Given the description of an element on the screen output the (x, y) to click on. 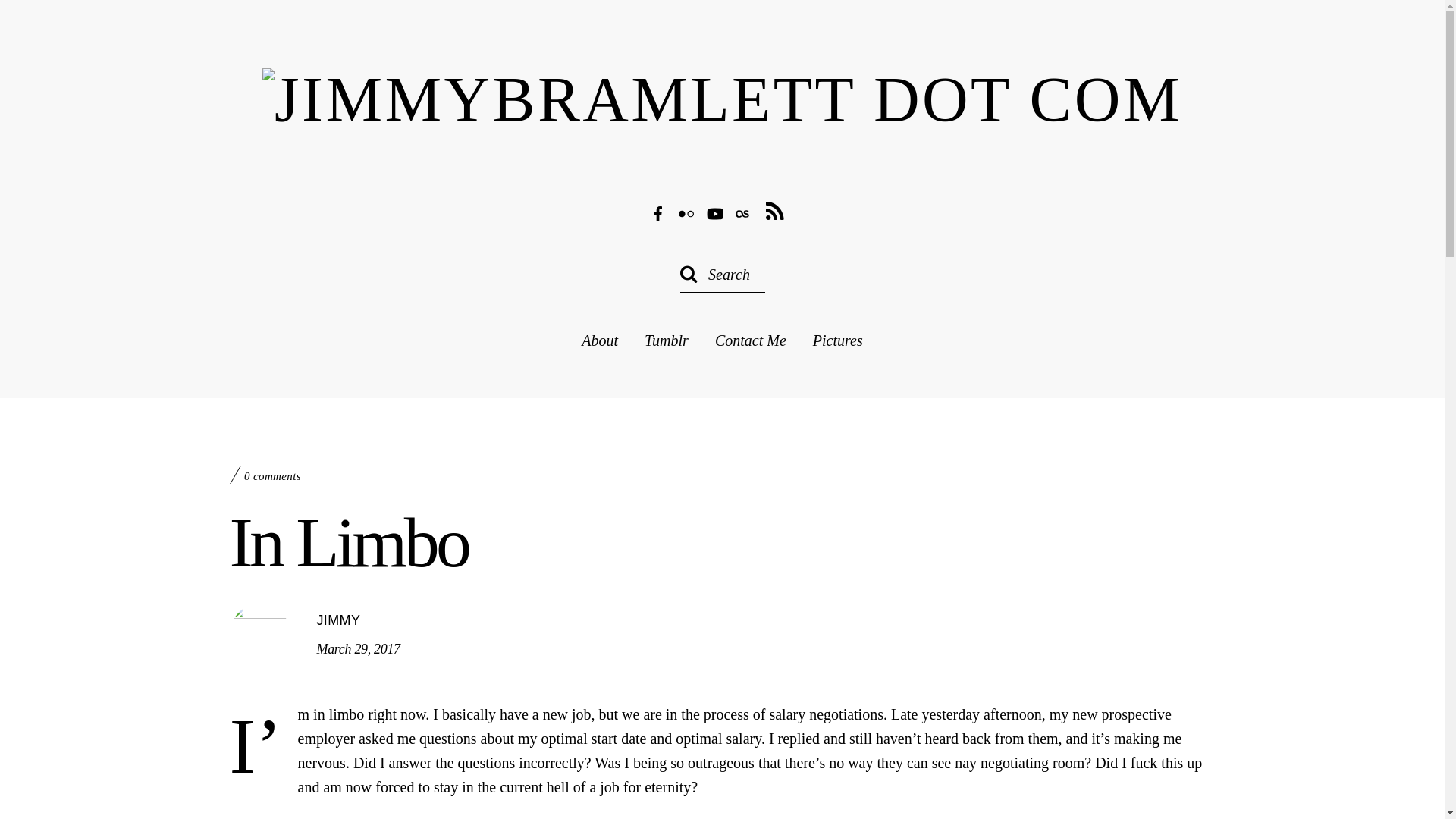
Pictures (837, 340)
Contact Me (750, 340)
JIMMY (339, 620)
0 comments (272, 476)
About (598, 340)
JimmyBramlett Dot Com (722, 99)
Tumblr (666, 340)
